Given the description of an element on the screen output the (x, y) to click on. 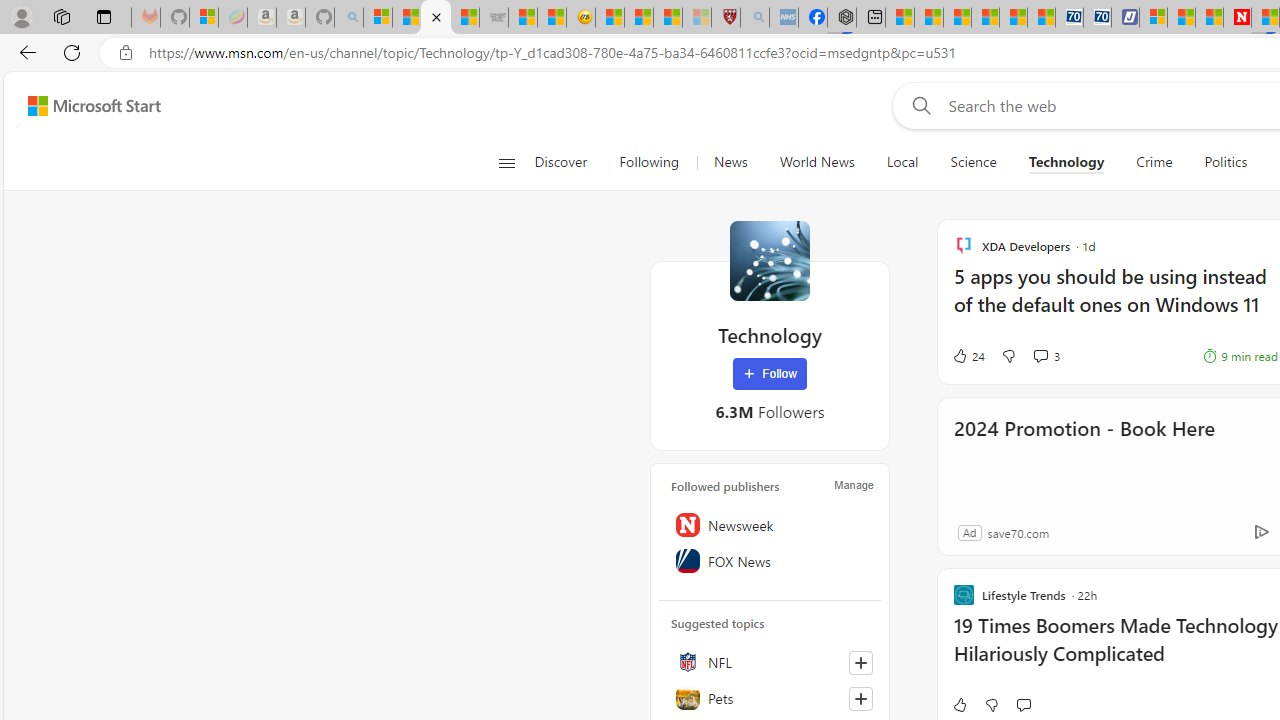
Newsweek - News, Analysis, Politics, Business, Technology (1236, 17)
2024 Promotion - Book Here (1083, 455)
